Given the description of an element on the screen output the (x, y) to click on. 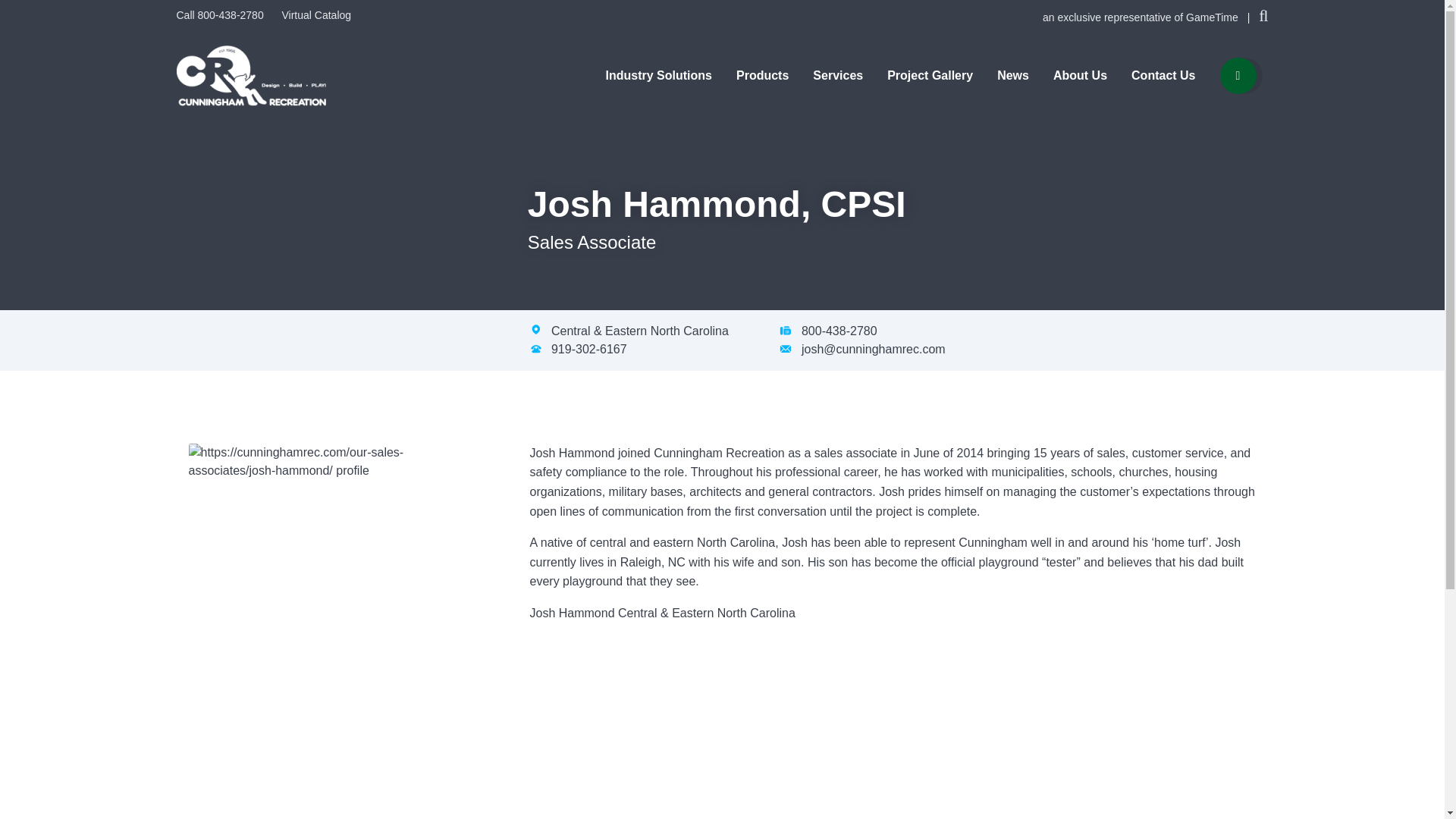
Virtual Catalog (315, 15)
Call 800-438-2780 (221, 15)
Virtual Catalog (315, 15)
Services (837, 75)
Products (762, 75)
an exclusive representative of GameTime (1141, 17)
Industry Solutions (658, 75)
About Us (1079, 75)
Industry Solutions (658, 75)
Call us at 8004382780 (221, 15)
